Given the description of an element on the screen output the (x, y) to click on. 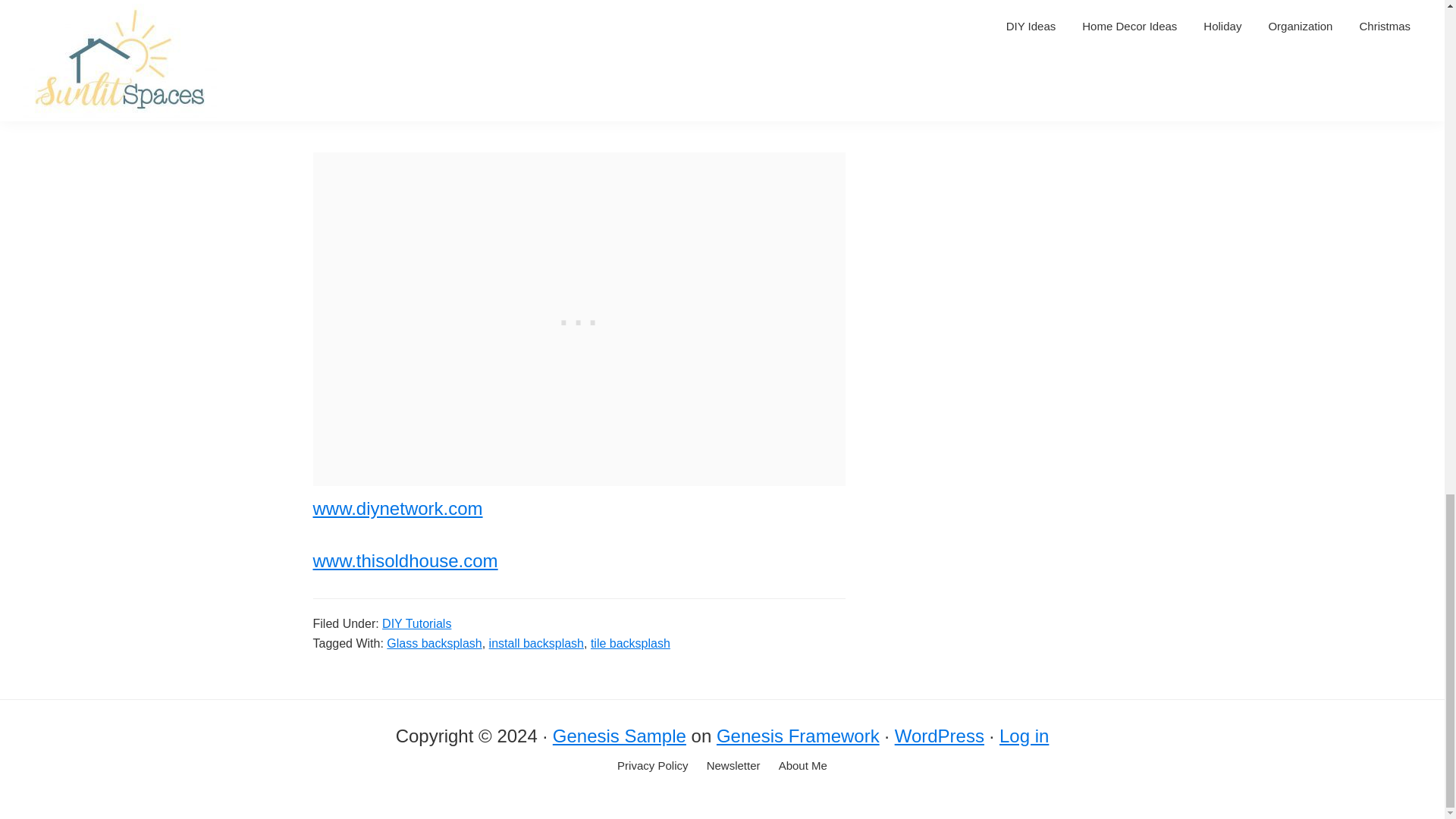
www.thisoldhouse.com (405, 559)
Glass backsplash (434, 642)
Genesis Framework (797, 735)
tile backsplash (630, 642)
install backsplash (536, 642)
Newsletter (733, 765)
Privacy Policy (652, 765)
DIY Tutorials (416, 622)
www.diynetwork.com (397, 507)
About Me (802, 765)
WordPress (939, 735)
Genesis Sample (619, 735)
Log in (1023, 735)
